Given the description of an element on the screen output the (x, y) to click on. 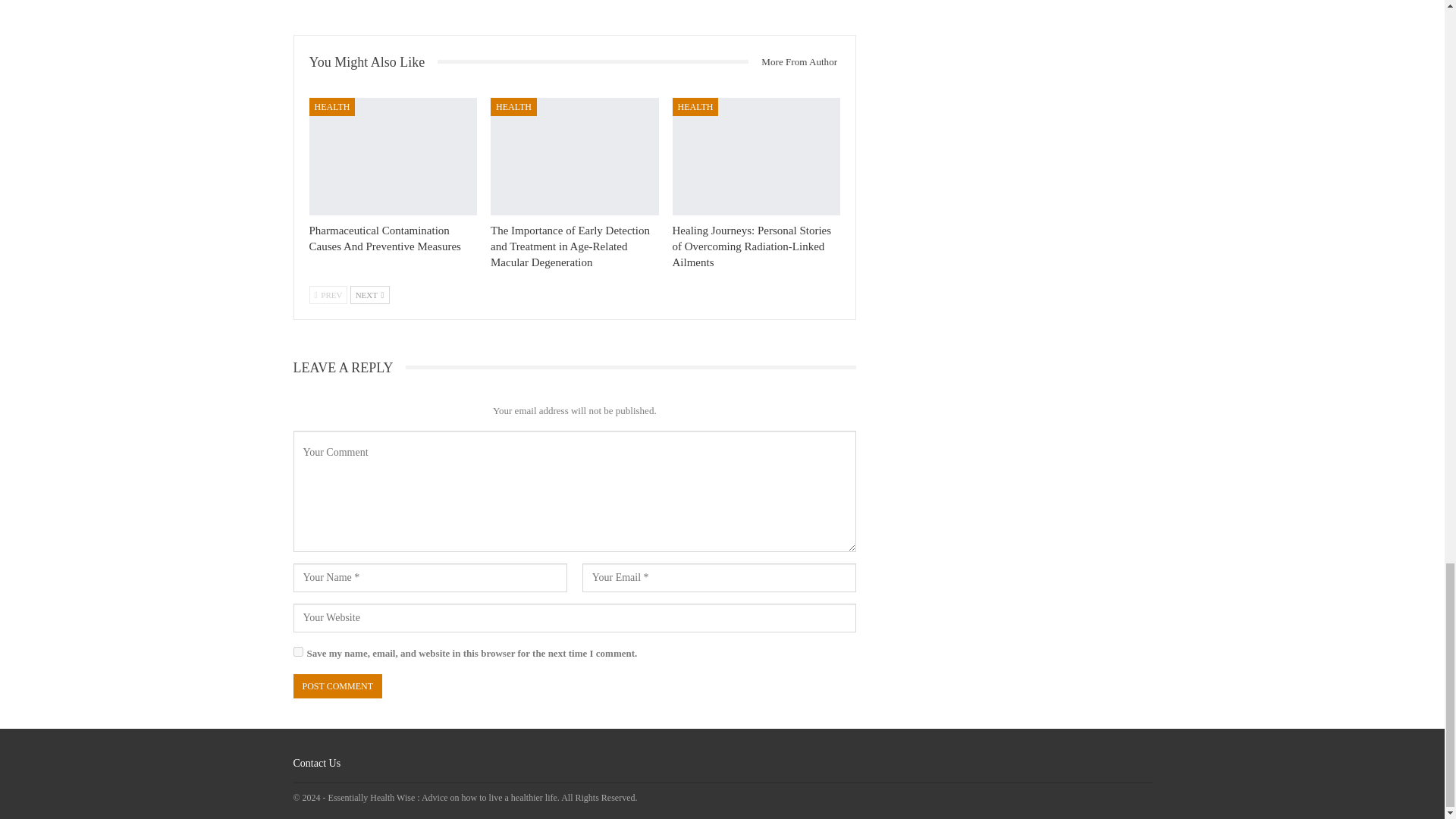
Previous (327, 294)
Pharmaceutical Contamination Causes And Preventive Measures (384, 238)
Post Comment (336, 686)
yes (297, 651)
Pharmaceutical Contamination Causes And Preventive Measures (392, 156)
